Given the description of an element on the screen output the (x, y) to click on. 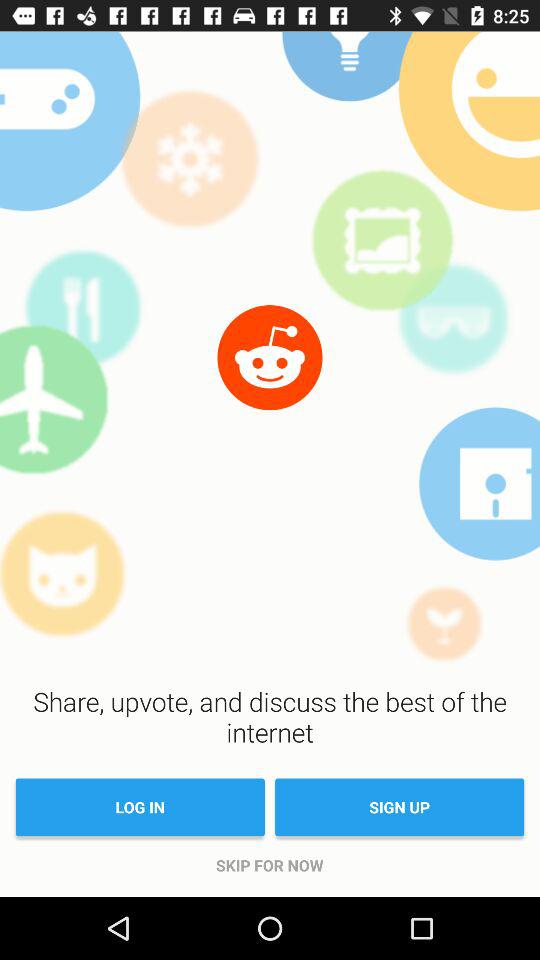
press the item next to log in icon (399, 807)
